Given the description of an element on the screen output the (x, y) to click on. 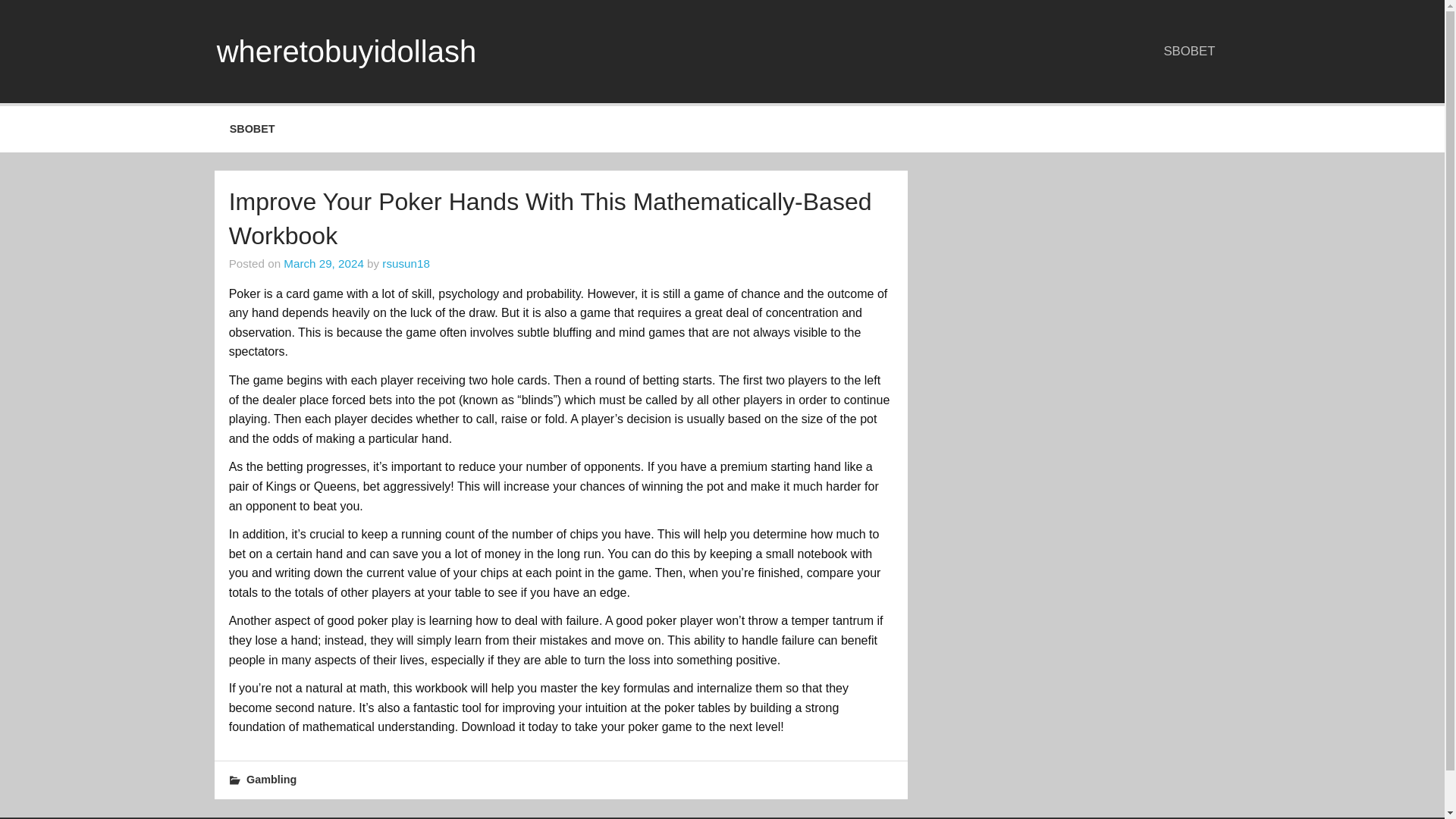
wheretobuyidollash (346, 51)
SBOBET (251, 128)
rsusun18 (405, 263)
Gambling (271, 779)
SBOBET (1189, 51)
View all posts by rsusun18 (405, 263)
10:34 pm (323, 263)
March 29, 2024 (323, 263)
